Given the description of an element on the screen output the (x, y) to click on. 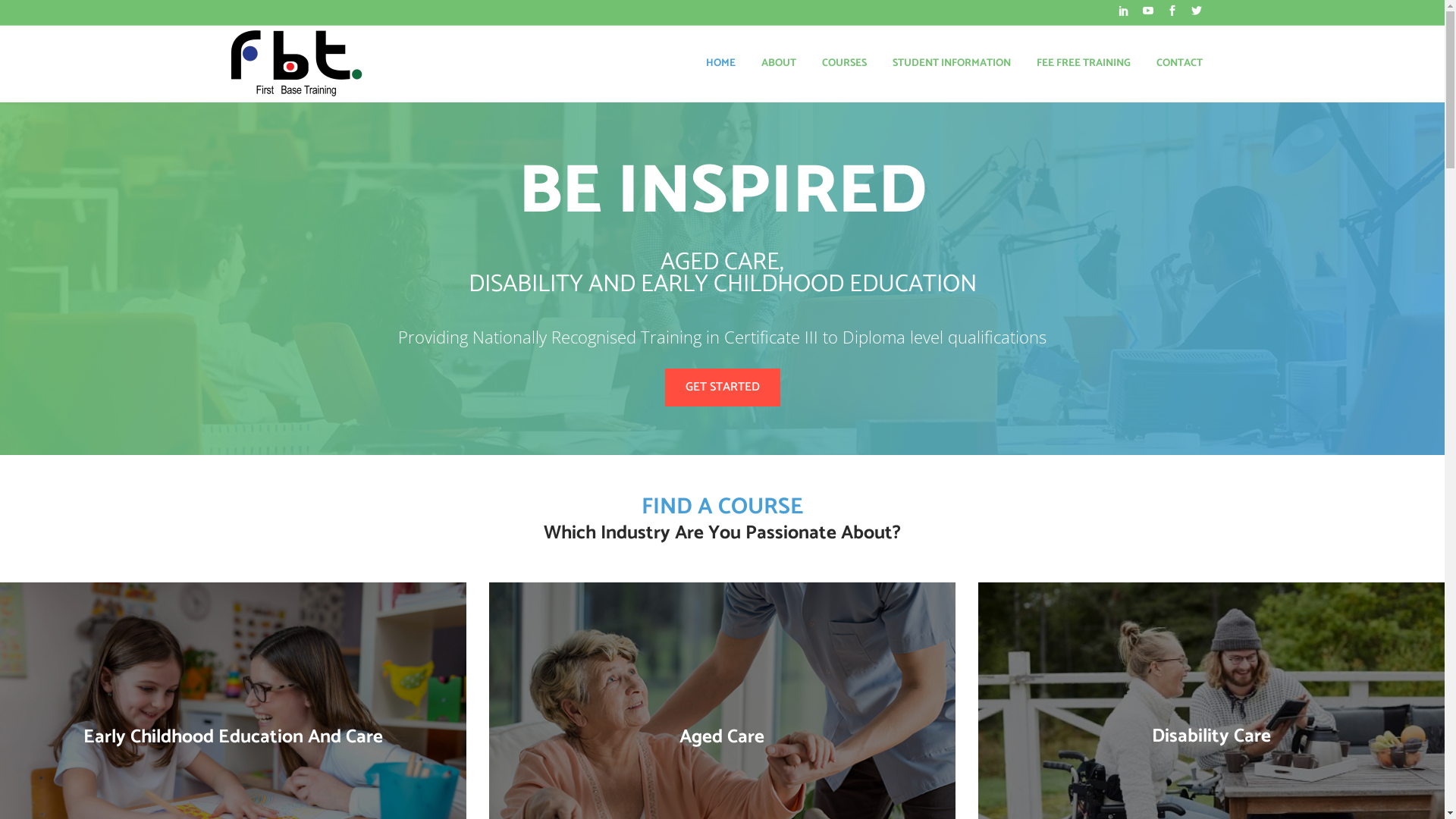
COURSES Element type: text (843, 63)
HOME Element type: text (720, 63)
ABOUT Element type: text (777, 63)
CONTACT Element type: text (1179, 63)
GET STARTED Element type: text (721, 387)
FEE FREE TRAINING Element type: text (1083, 63)
STUDENT INFORMATION Element type: text (951, 63)
FIND A COURSE Element type: text (722, 506)
